Given the description of an element on the screen output the (x, y) to click on. 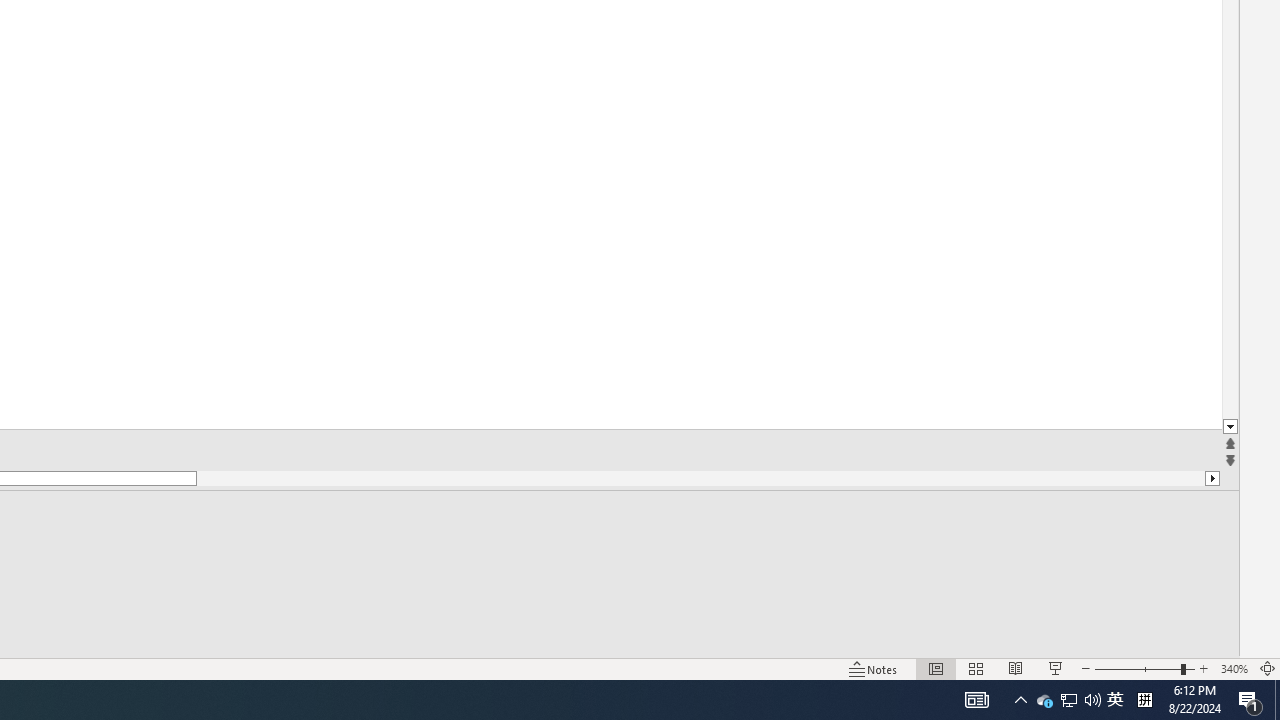
Zoom 340% (1234, 668)
